Given the description of an element on the screen output the (x, y) to click on. 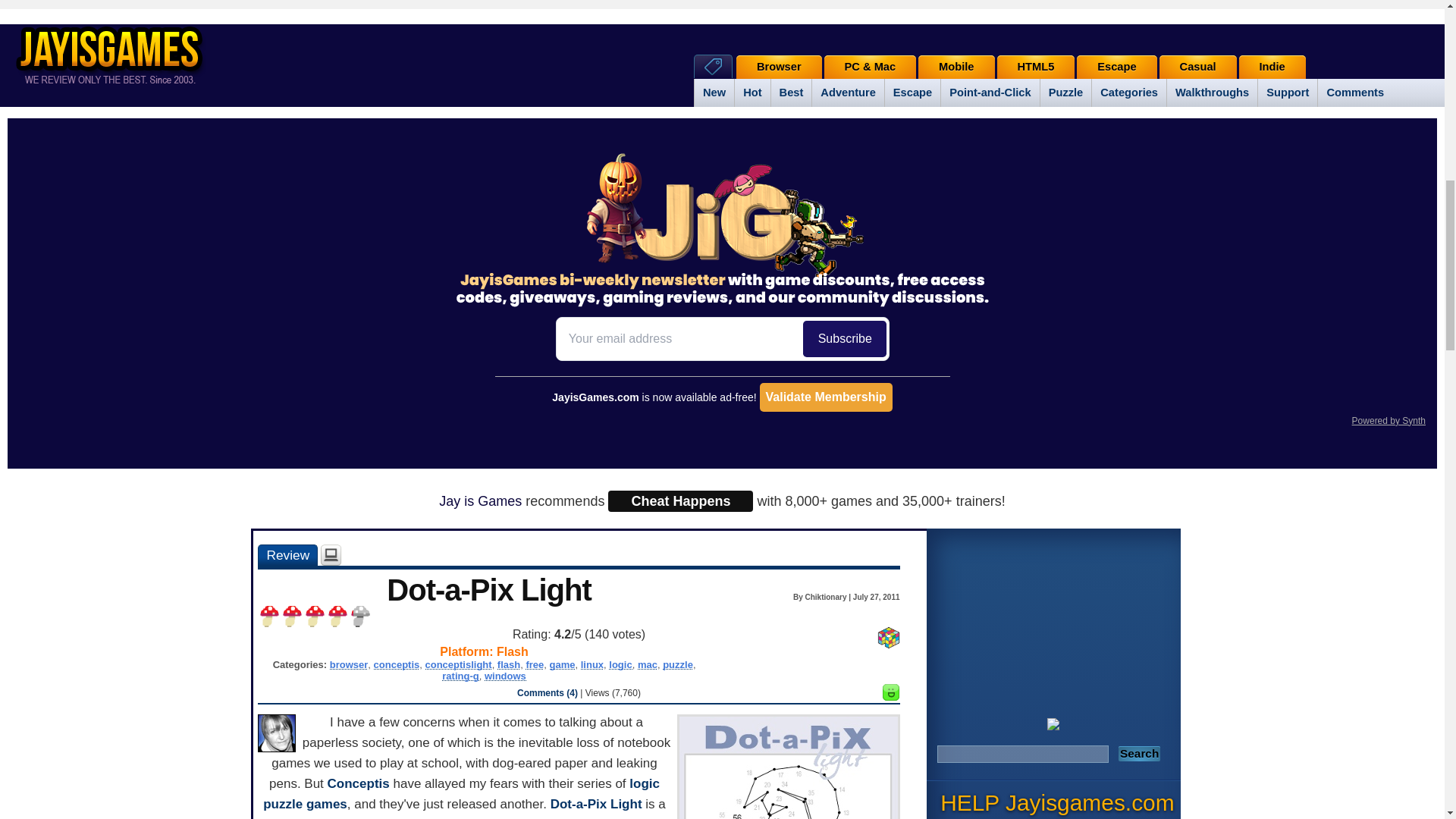
Tags (713, 65)
Hot (751, 92)
5 out of 5 (360, 616)
Validate Membership (826, 397)
Search (1139, 753)
Powered by Synth (1388, 420)
3 out of 5 (314, 616)
Escape (1116, 66)
Walkthroughs (1211, 92)
Dot-a-Pix Light  (287, 554)
Mobile (956, 66)
Free online and mobile games (116, 52)
HTML5 (1034, 66)
1 out of 5 (269, 616)
4 out of 5 (337, 616)
